Given the description of an element on the screen output the (x, y) to click on. 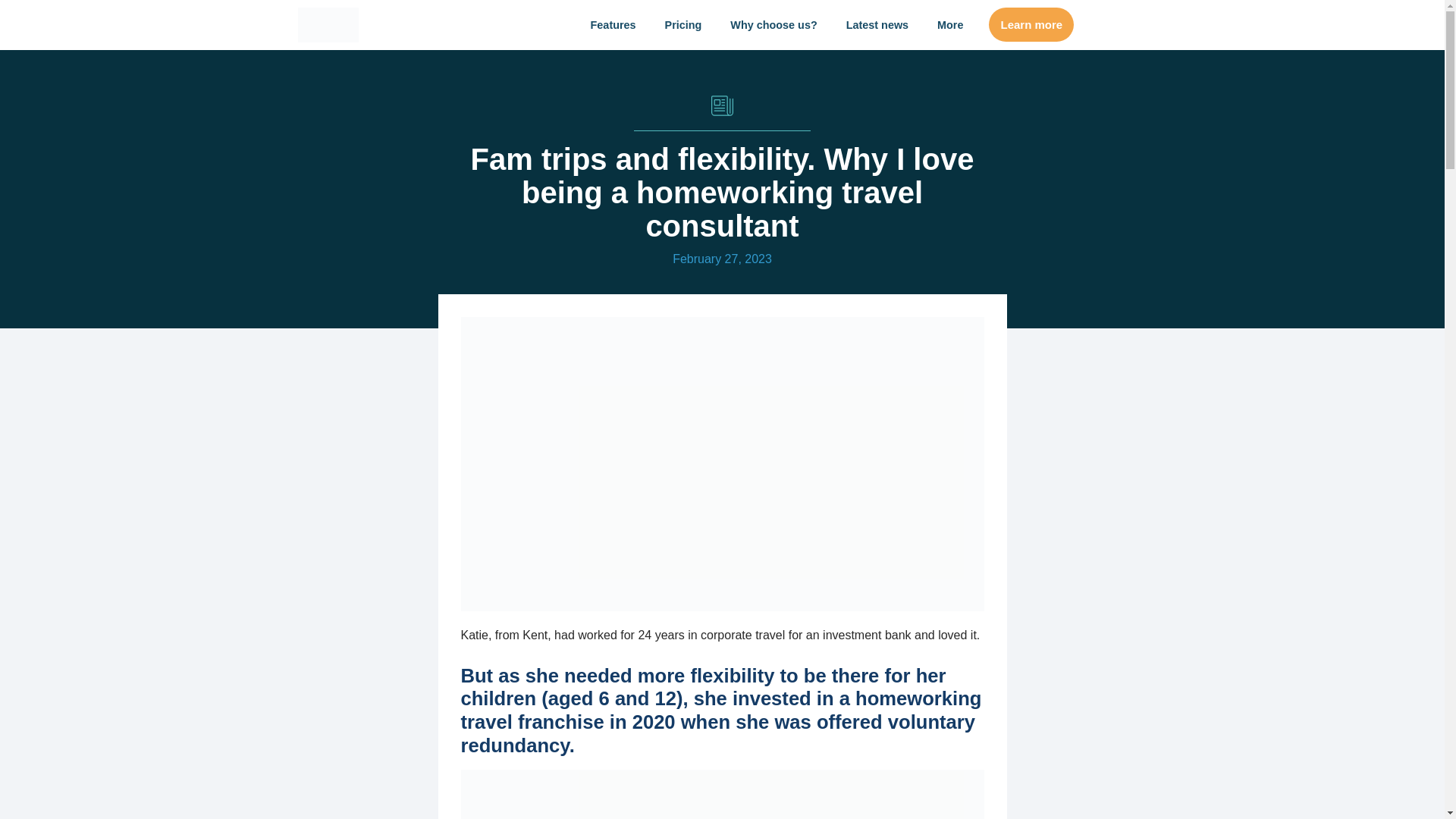
Features (612, 24)
Latest news (876, 24)
Learn more (1031, 24)
February 27, 2023 (721, 259)
More (950, 24)
Pricing (683, 24)
Why choose us? (773, 24)
